Given the description of an element on the screen output the (x, y) to click on. 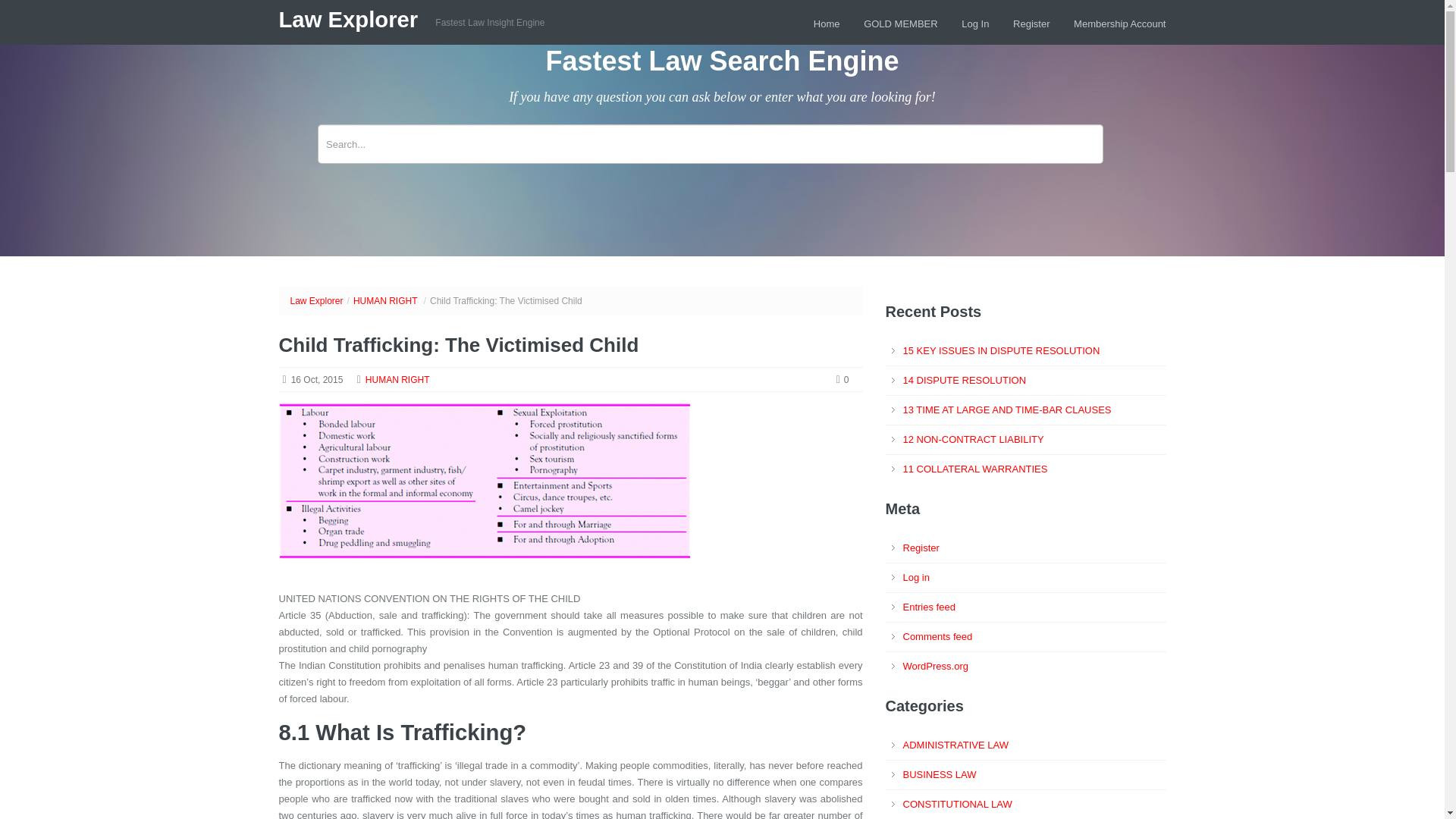
13 TIME AT LARGE AND TIME-BAR CLAUSES (1006, 409)
Law Explorer (352, 19)
Register (1031, 23)
HUMAN RIGHT (384, 300)
HUMAN RIGHT (397, 379)
Home (826, 23)
Law Explorer (315, 300)
Law Explorer (352, 19)
15 KEY ISSUES IN DISPUTE RESOLUTION (1000, 350)
Child Trafficking: The Victimised Child (459, 344)
14 DISPUTE RESOLUTION (964, 379)
Membership Account (1120, 23)
Log In (974, 23)
GOLD MEMBER (900, 23)
Child Trafficking: The Victimised Child (484, 487)
